Given the description of an element on the screen output the (x, y) to click on. 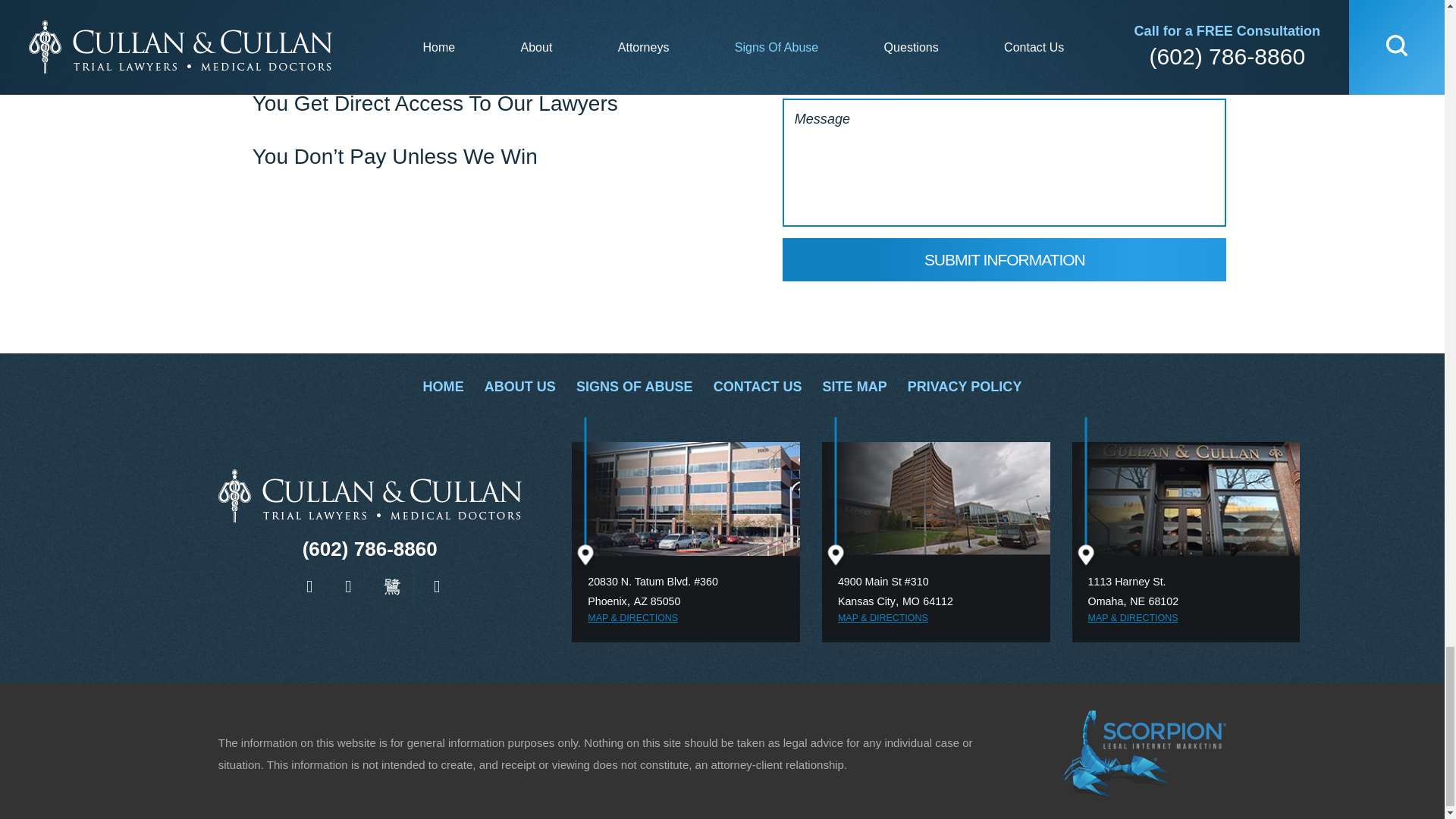
Scorpion Legal Internet Marketing (1142, 753)
